Given the description of an element on the screen output the (x, y) to click on. 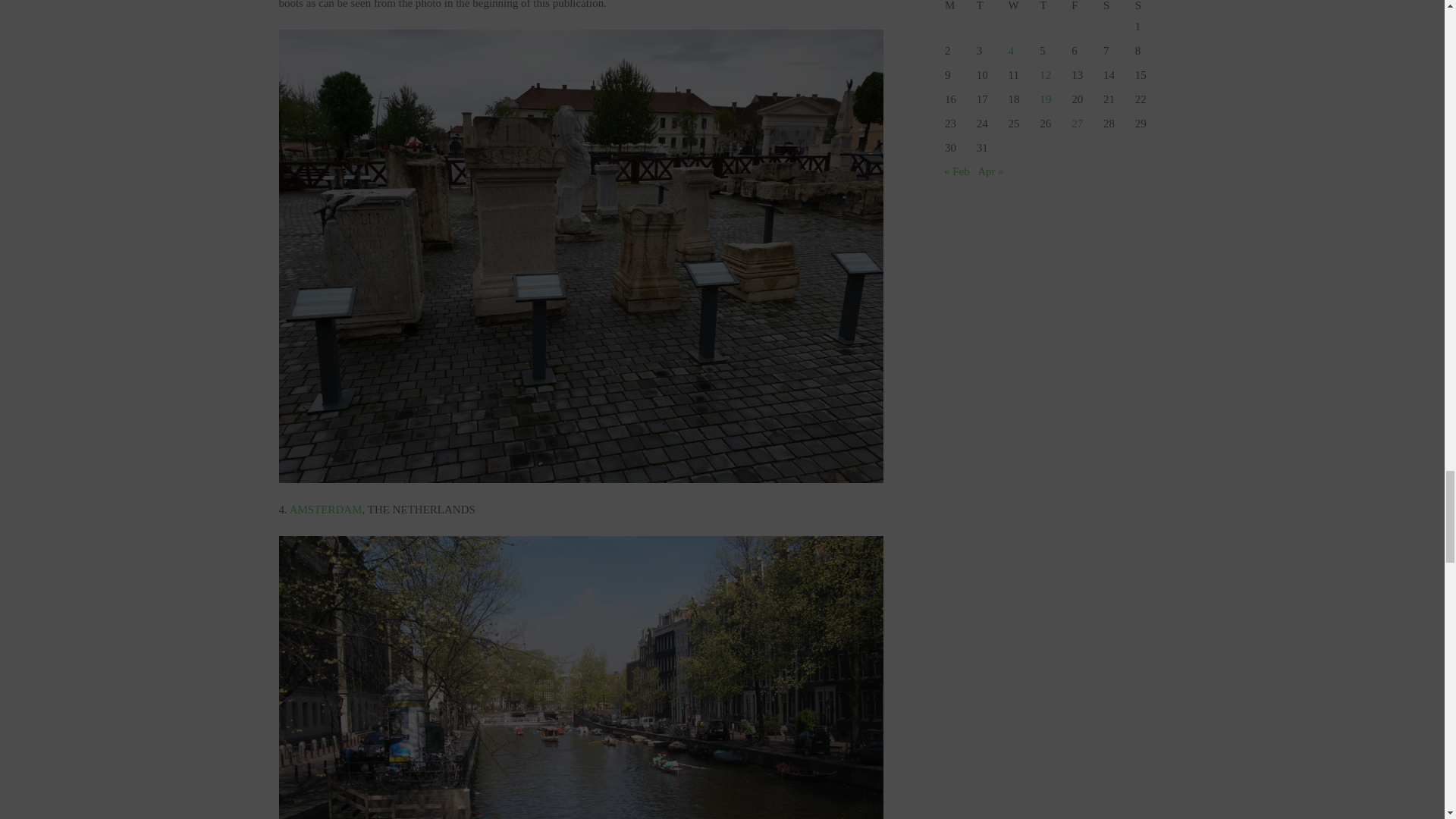
AMSTERDAM (325, 509)
